Given the description of an element on the screen output the (x, y) to click on. 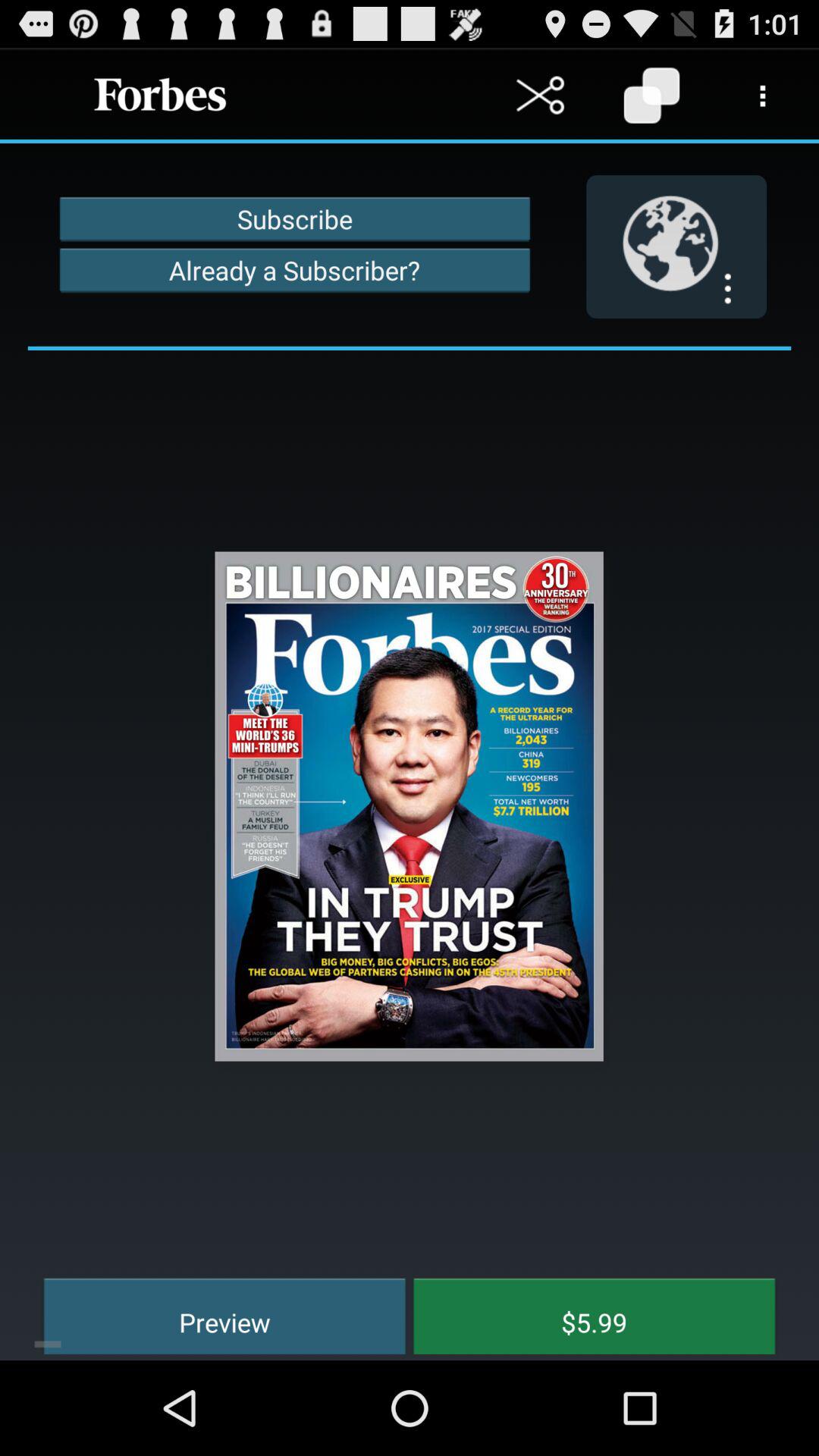
select icon next to the $5.99 (213, 1314)
